Given the description of an element on the screen output the (x, y) to click on. 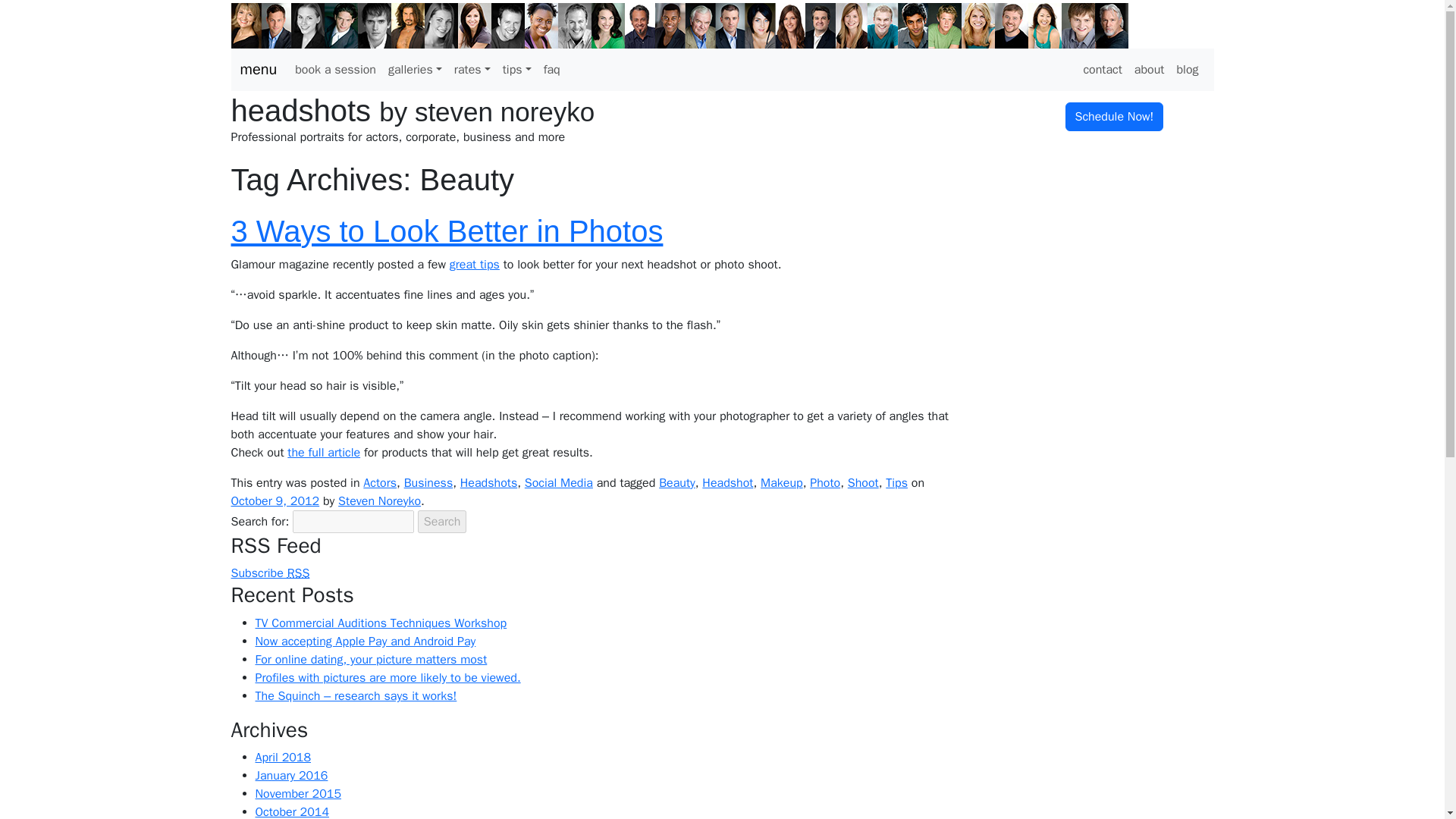
Makeup (781, 482)
Search (442, 520)
faq (551, 69)
Photo (824, 482)
menu (258, 69)
Schedule Now! (1113, 116)
contact (1101, 69)
Headshots (488, 482)
galleries (414, 69)
Tips (896, 482)
View all posts by Steven Noreyko (378, 500)
book a session (334, 69)
Actors (379, 482)
Shoot (863, 482)
October 9, 2012 (274, 500)
